Given the description of an element on the screen output the (x, y) to click on. 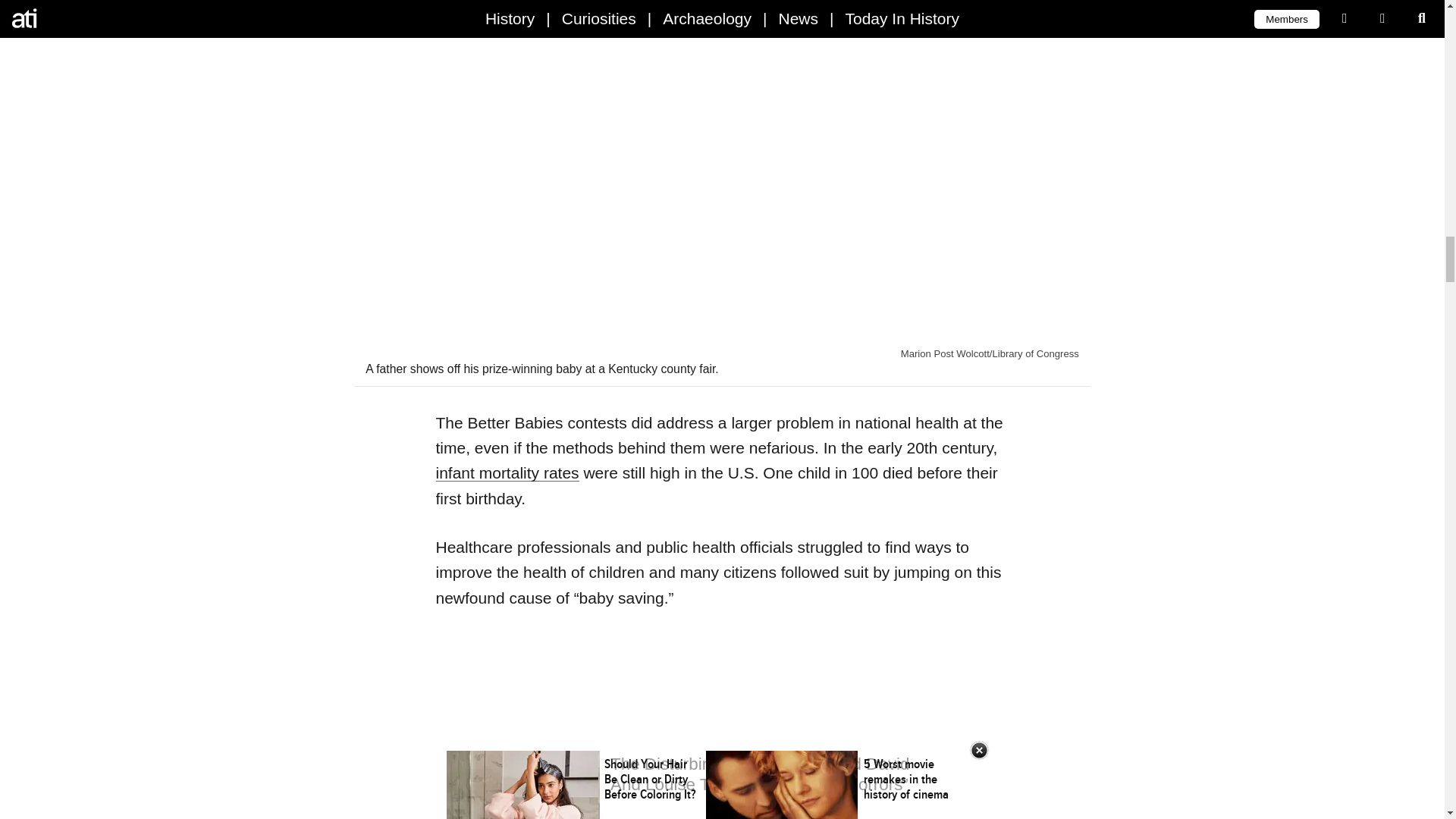
infant mortality rates (506, 472)
